Given the description of an element on the screen output the (x, y) to click on. 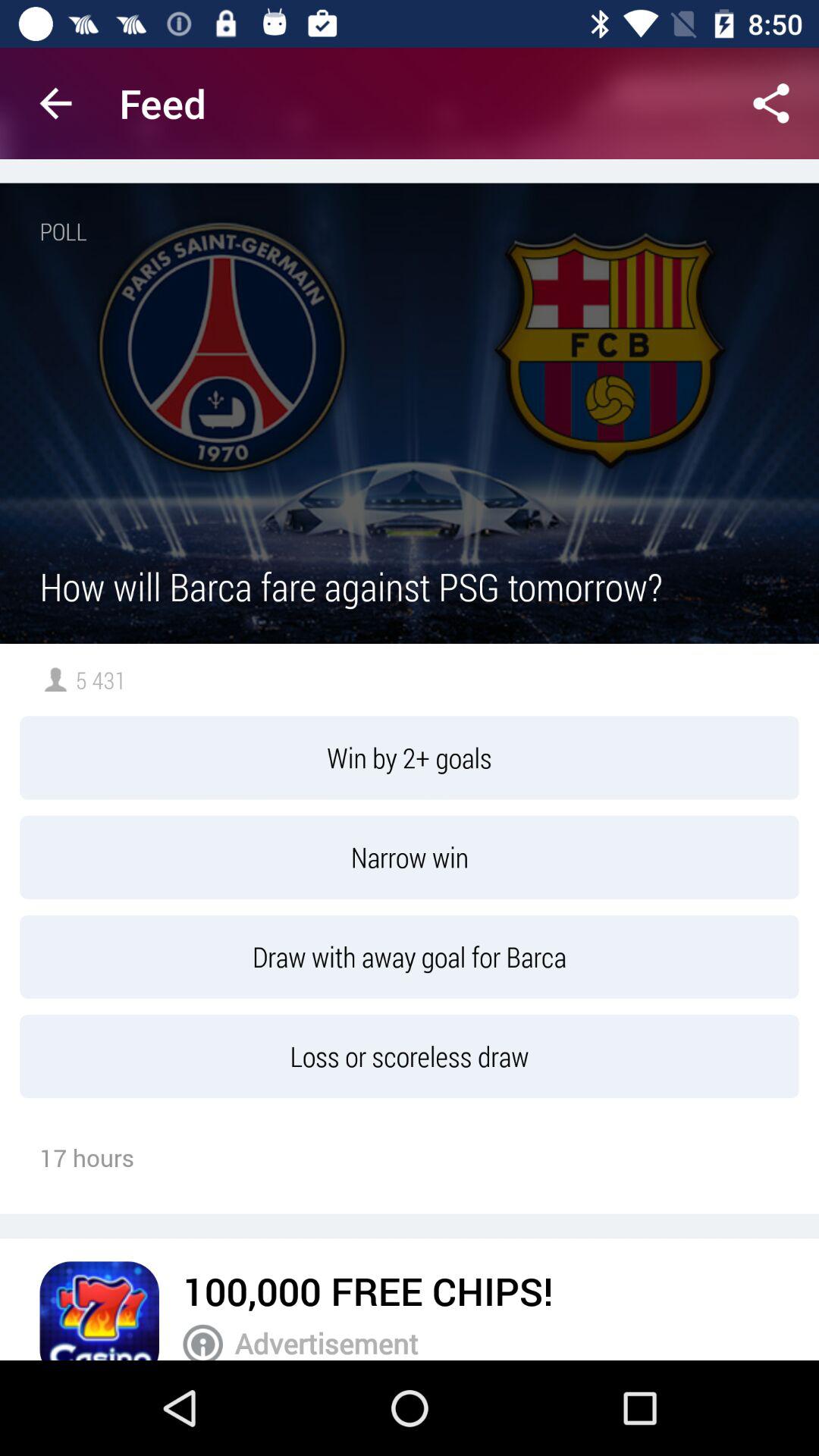
jump to the 100 000 free (368, 1290)
